Given the description of an element on the screen output the (x, y) to click on. 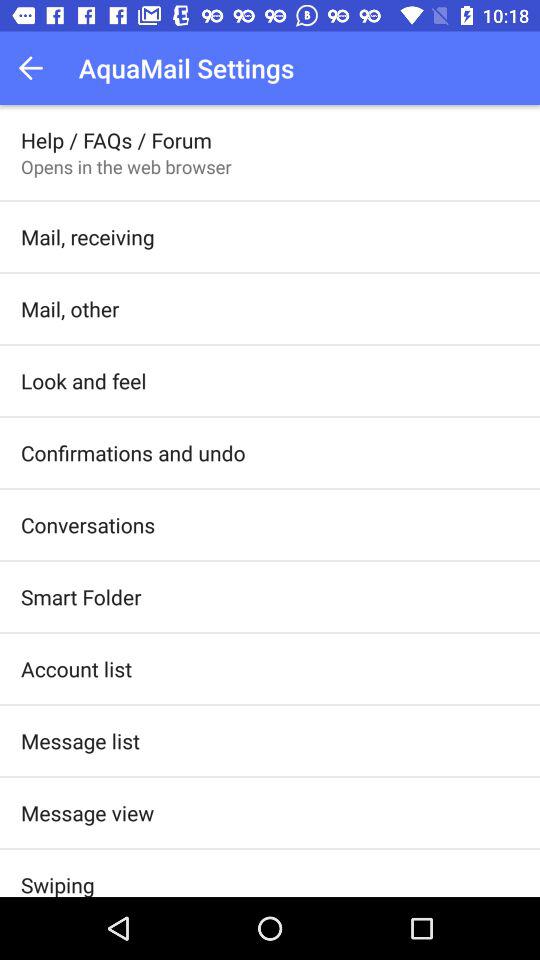
flip to the swiping app (57, 883)
